Given the description of an element on the screen output the (x, y) to click on. 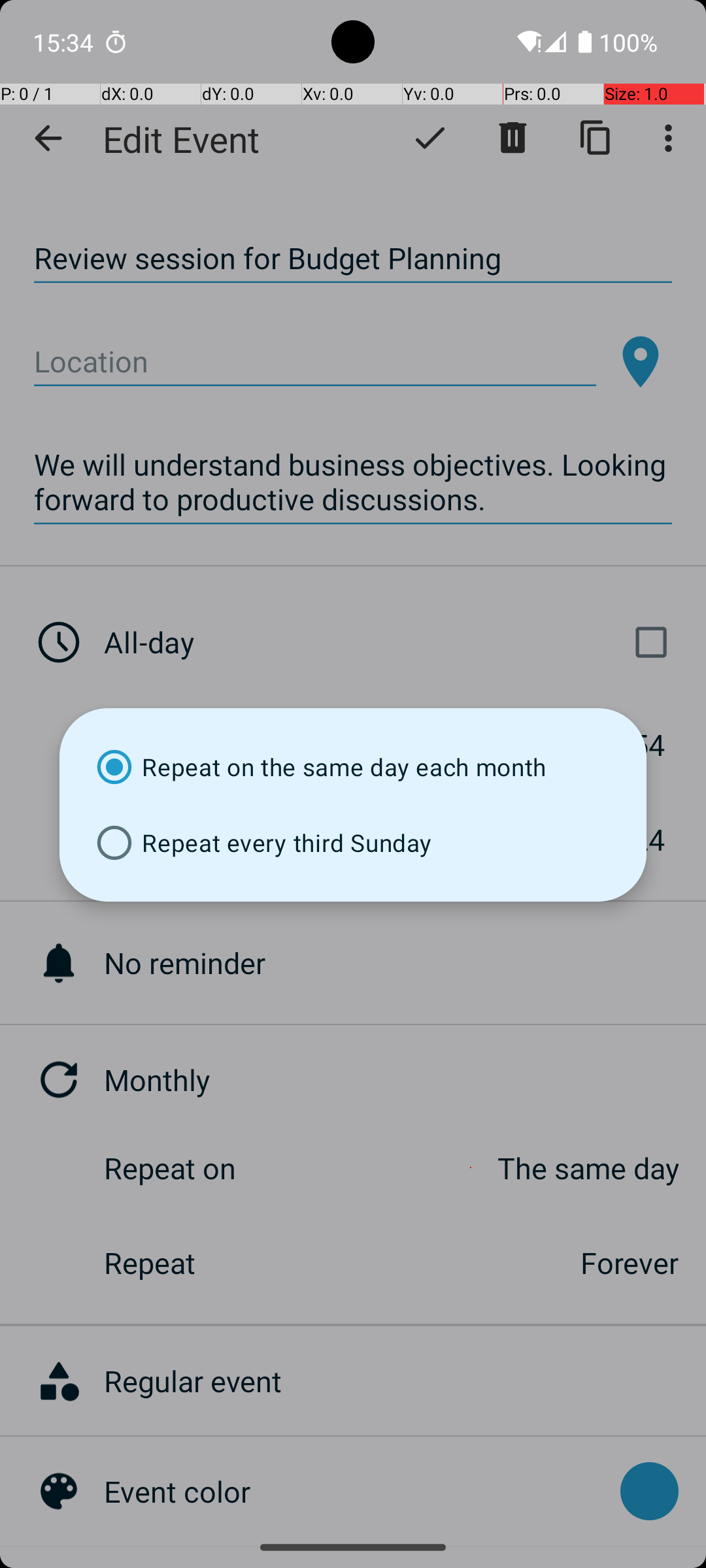
Repeat on the same day each month Element type: android.widget.RadioButton (352, 766)
Repeat every third Sunday Element type: android.widget.RadioButton (352, 842)
